Given the description of an element on the screen output the (x, y) to click on. 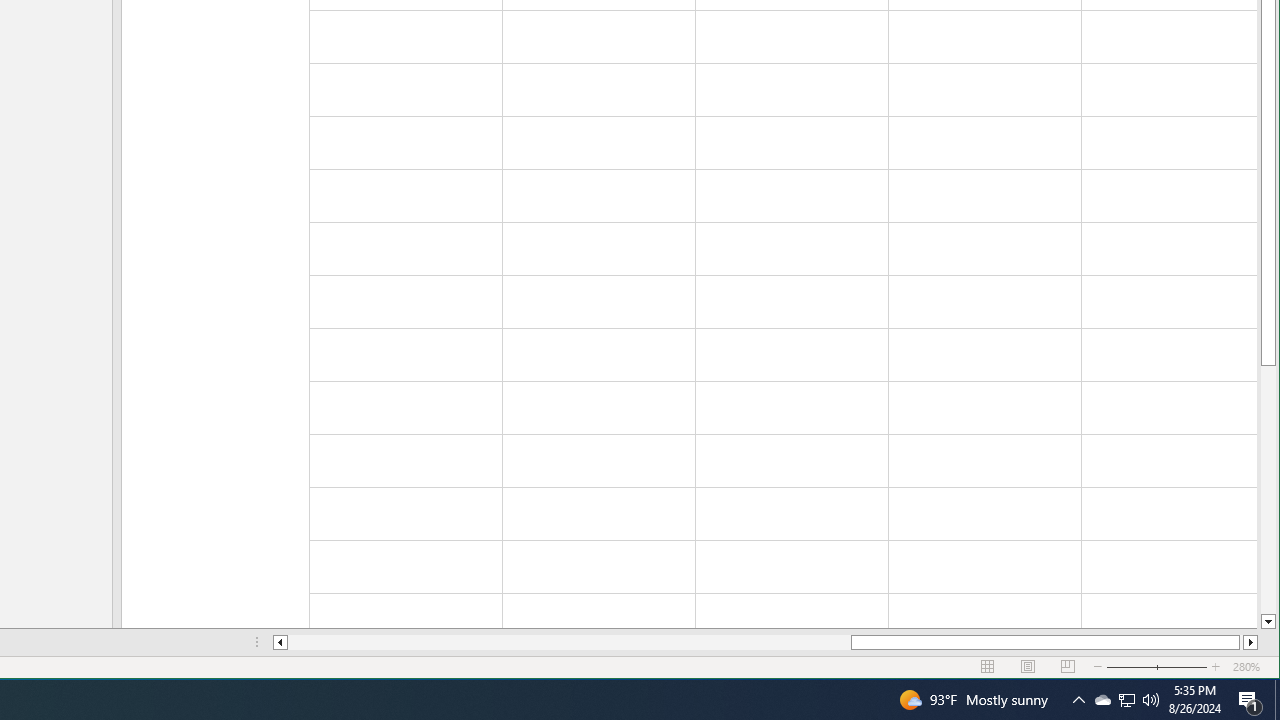
Normal (987, 667)
Zoom (1157, 667)
Page down (1268, 489)
Page Break Preview (1068, 667)
Class: NetUIScrollBar (765, 642)
Column right (1250, 642)
User Promoted Notification Area (1126, 699)
Page Layout (1126, 699)
Zoom In (1028, 667)
Column left (1215, 667)
Zoom Out (1102, 699)
